Given the description of an element on the screen output the (x, y) to click on. 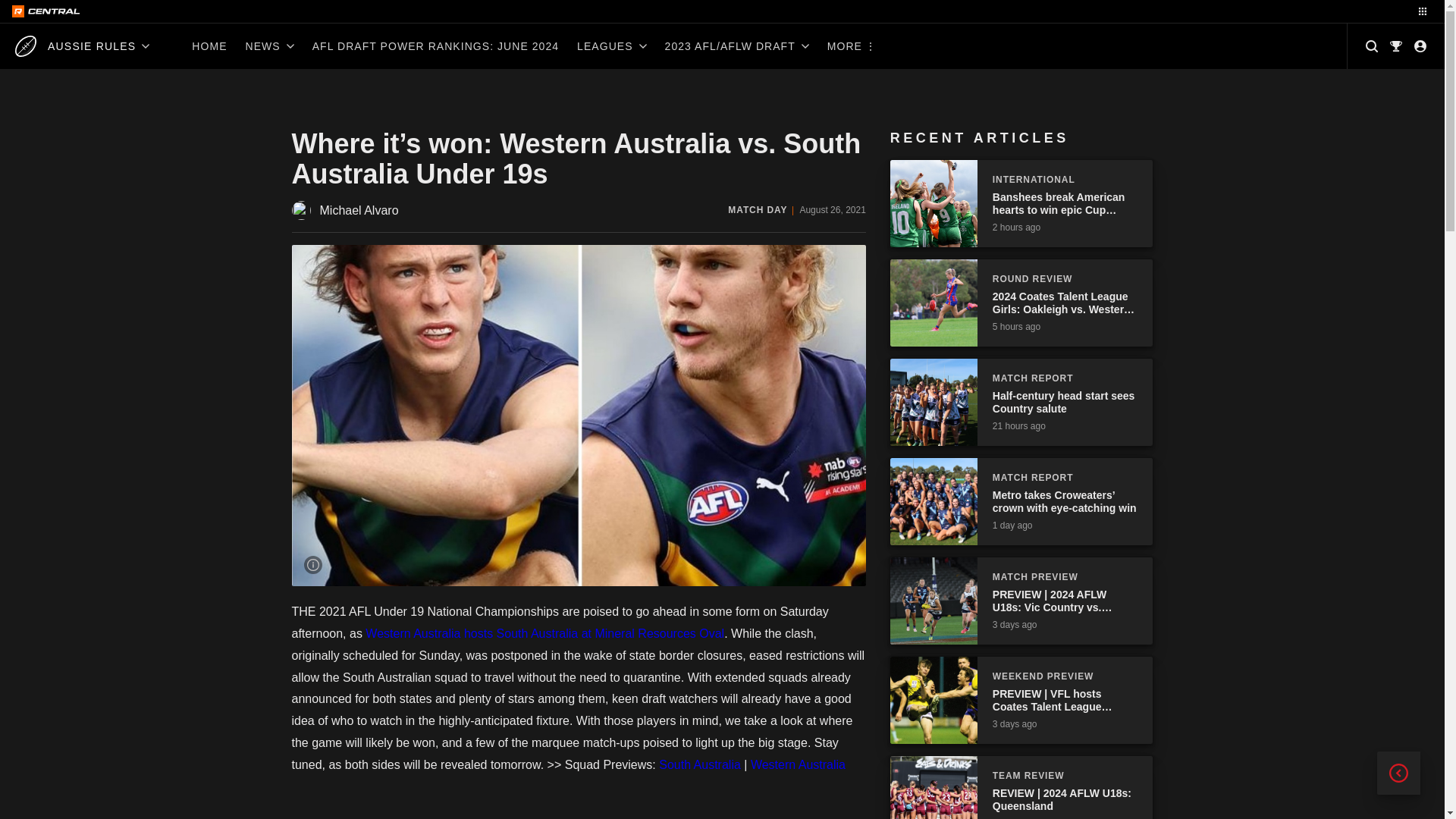
Search (1371, 46)
MORE (850, 46)
LEAGUES (611, 46)
AUSSIE RULES (82, 45)
HOME (209, 46)
AFL DRAFT POWER RANKINGS: JUNE 2024 (434, 46)
NEWS (268, 46)
